Given the description of an element on the screen output the (x, y) to click on. 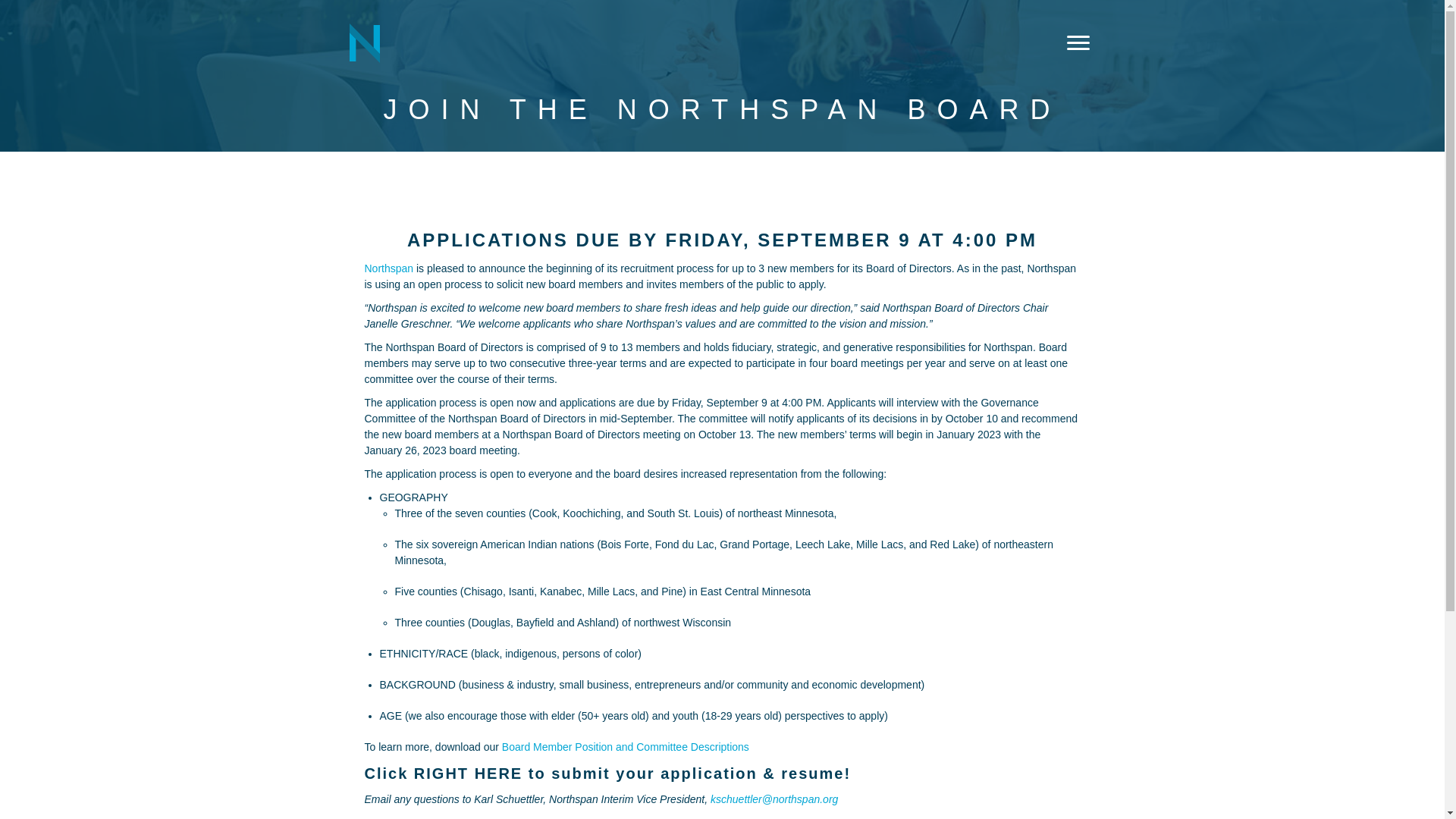
RIGHT HERE (467, 773)
Board Member Position and Committee Descriptions (625, 746)
Northspan (388, 268)
